Given the description of an element on the screen output the (x, y) to click on. 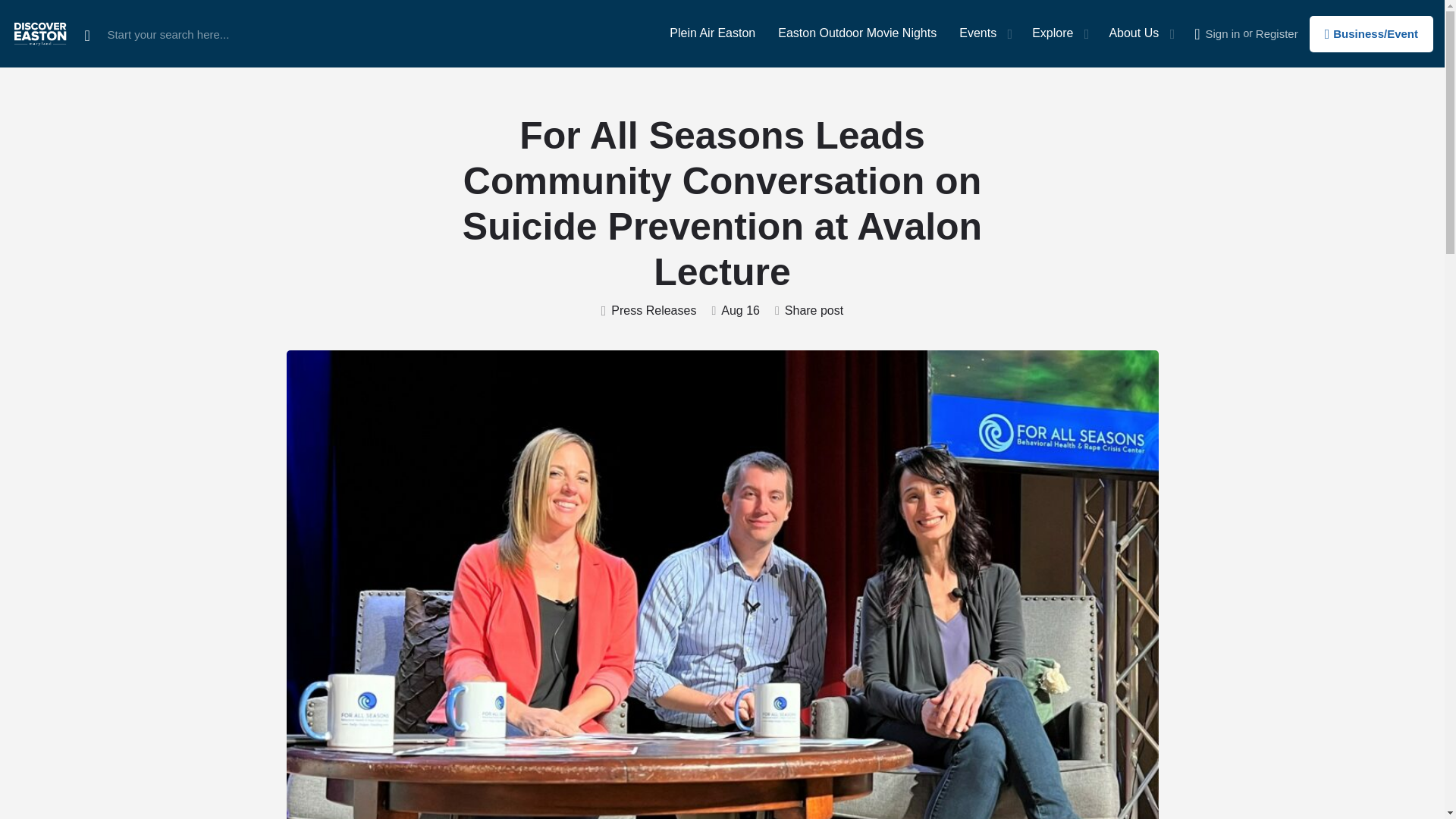
Plein Air Easton (712, 33)
About Us (1133, 33)
Easton Outdoor Movie Nights (856, 33)
Explore (1052, 33)
Events (977, 33)
